Given the description of an element on the screen output the (x, y) to click on. 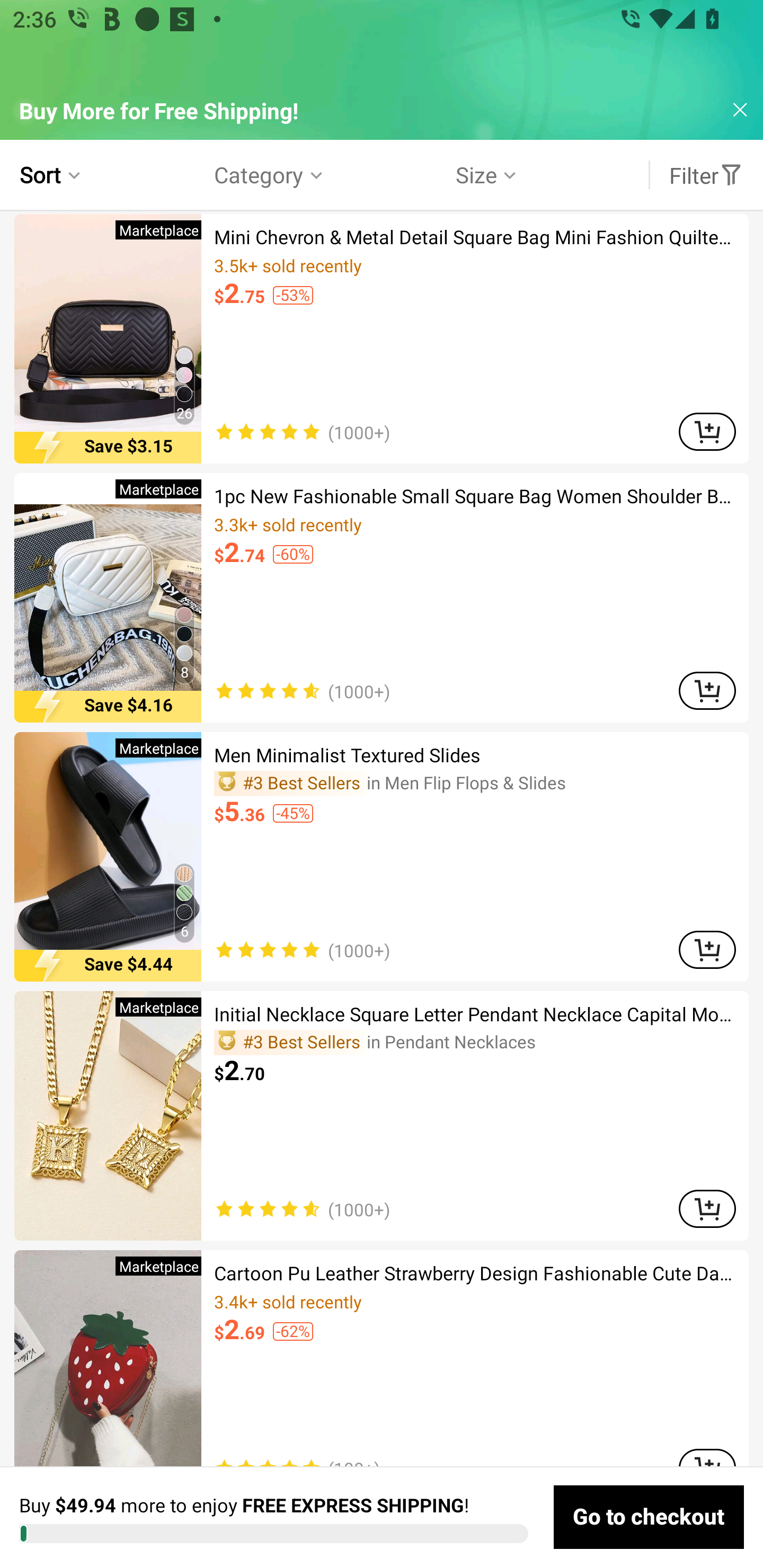
Sort (51, 174)
Category (269, 174)
Size (487, 174)
Filter (705, 174)
ADD TO CART (707, 431)
ADD TO CART (707, 690)
ADD TO CART (707, 950)
ADD TO CART (707, 1208)
Go to checkout (648, 1516)
